Given the description of an element on the screen output the (x, y) to click on. 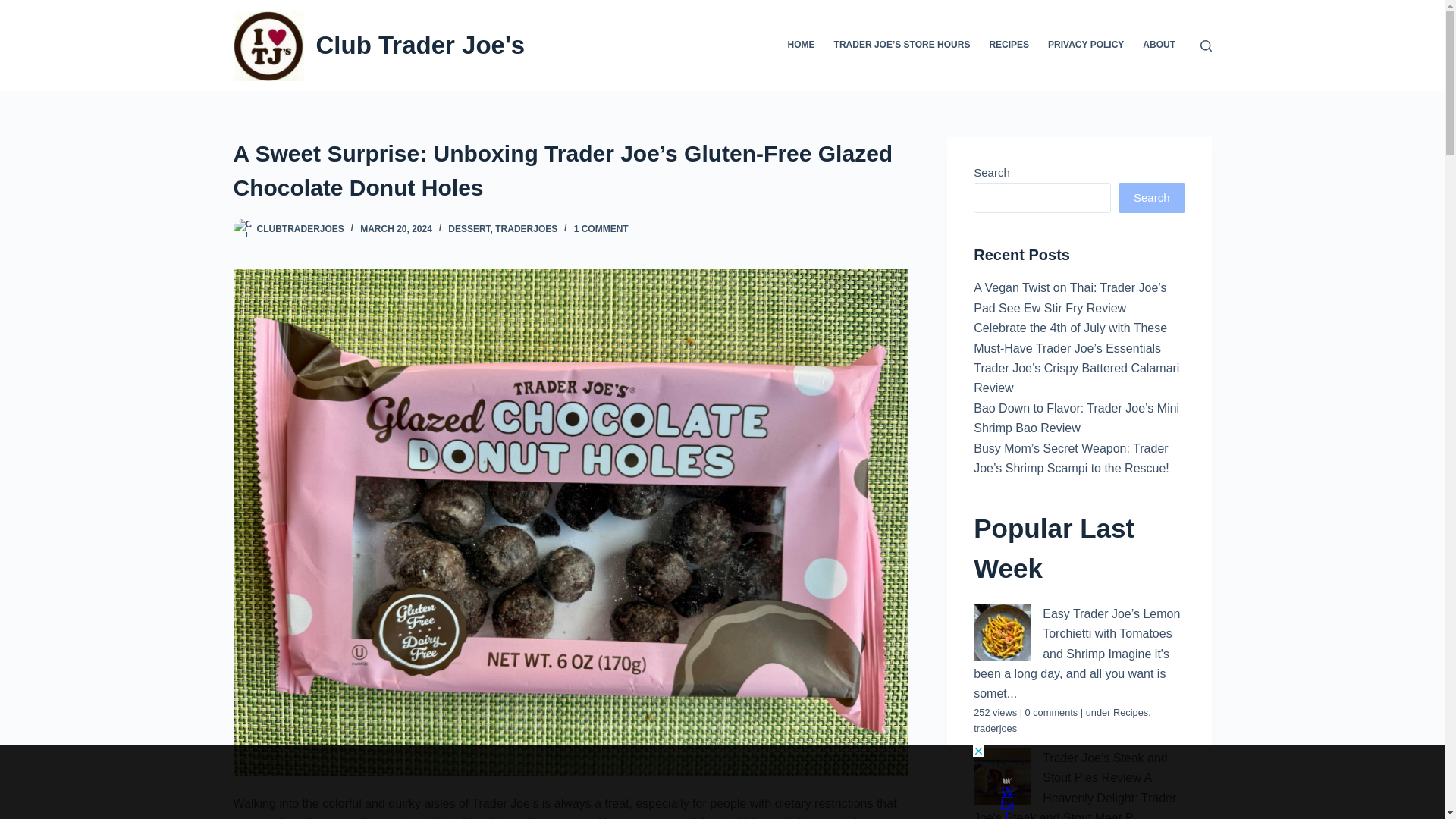
3rd party ad content (708, 778)
DESSERT (468, 228)
1 COMMENT (600, 228)
Skip to content (15, 7)
CLUBTRADERJOES (299, 228)
PRIVACY POLICY (1086, 45)
Posts by clubtraderjoes (299, 228)
TRADERJOES (526, 228)
Club Trader Joe's (419, 44)
Search (1151, 197)
